Given the description of an element on the screen output the (x, y) to click on. 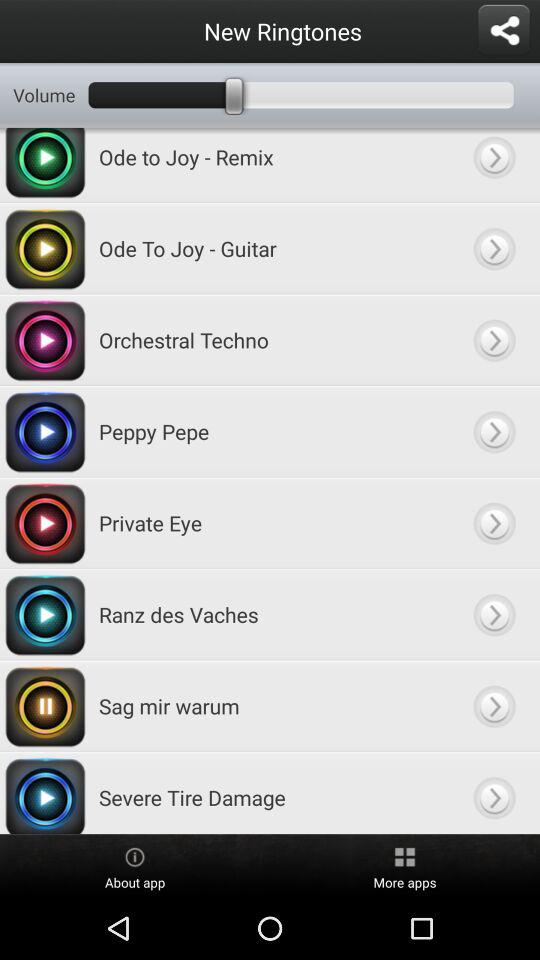
click more options arrow (494, 248)
